Given the description of an element on the screen output the (x, y) to click on. 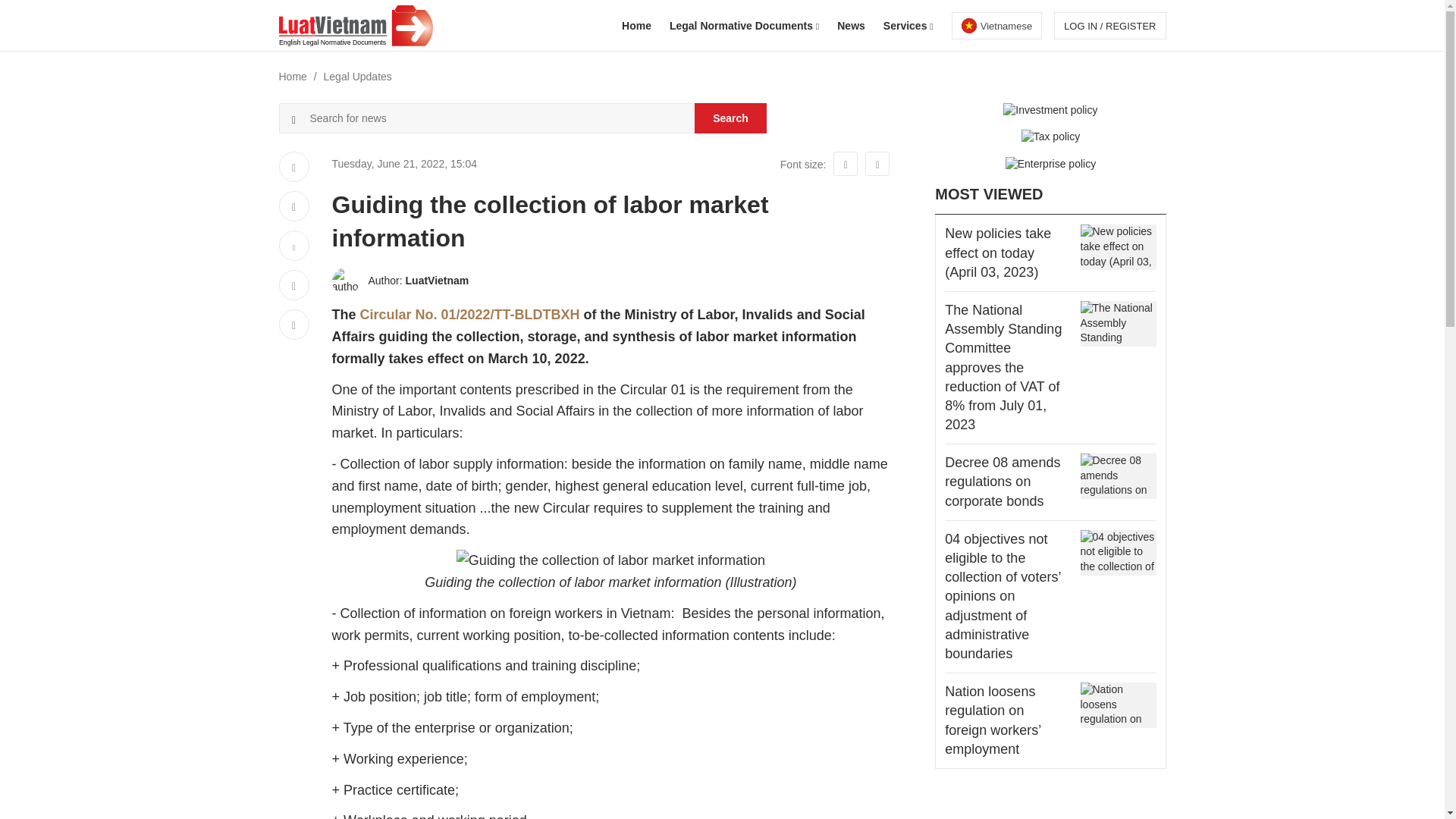
Legal Normative Documents (743, 25)
Vietnamese (997, 25)
Services (908, 25)
Services (908, 25)
LuatVietnam (437, 280)
LuatVietnam (997, 25)
Legal Normative Documents  (743, 25)
